Given the description of an element on the screen output the (x, y) to click on. 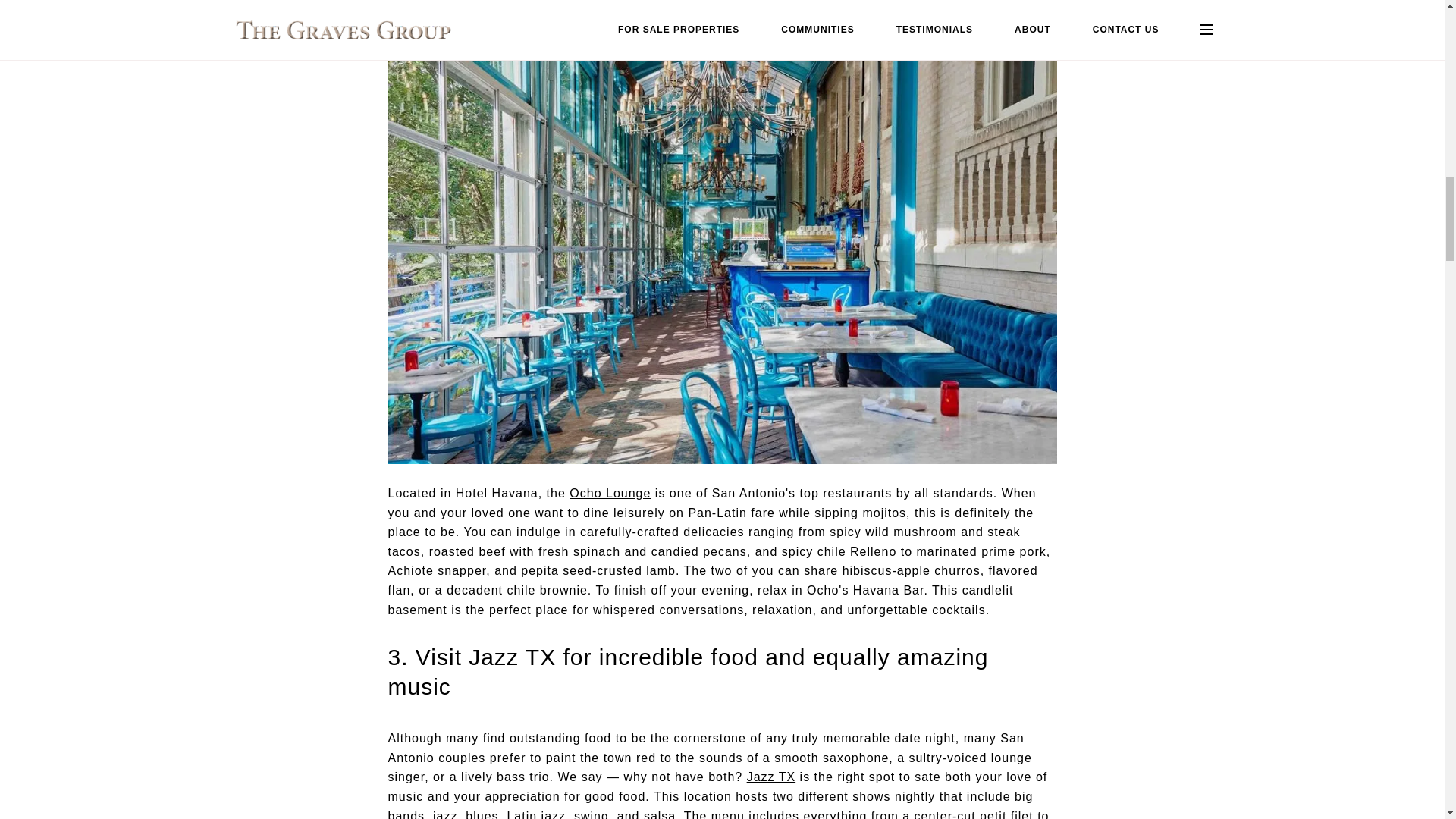
Ocho Lounge (609, 492)
Jazz TX (771, 776)
